Given the description of an element on the screen output the (x, y) to click on. 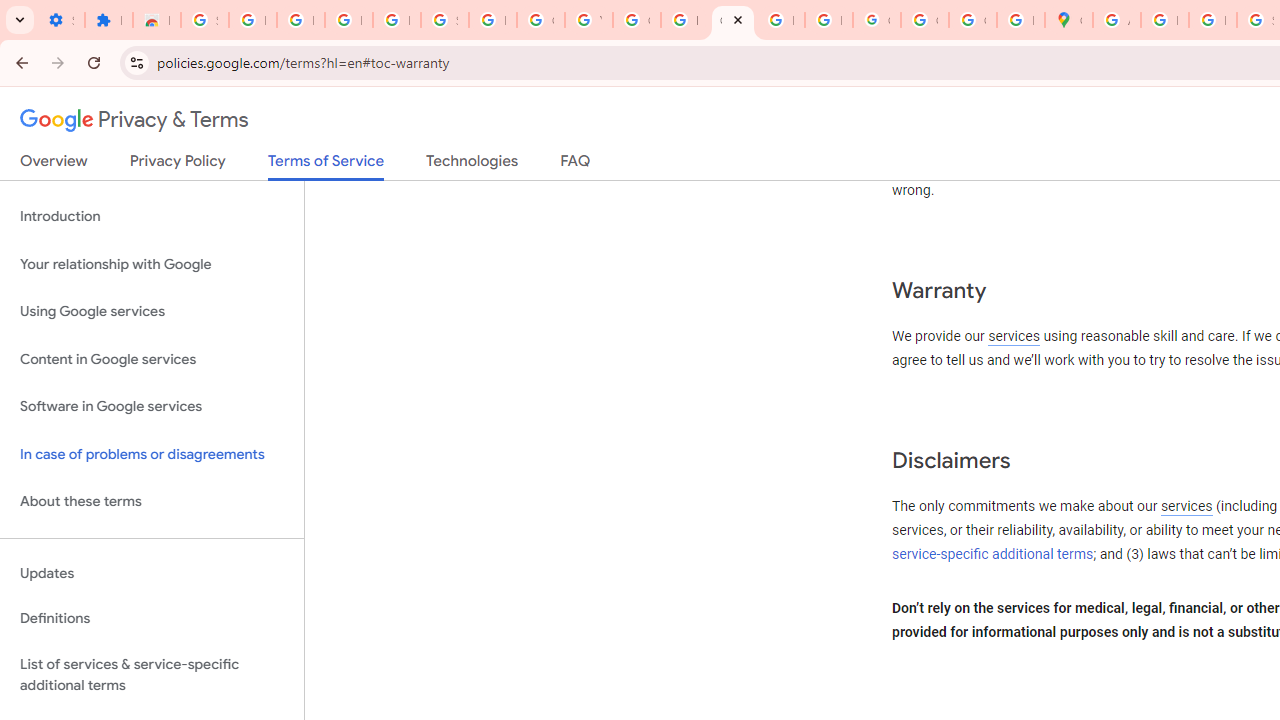
service-specific additional terms (993, 554)
YouTube (588, 20)
Privacy & Terms (134, 120)
Technologies (472, 165)
Updates (152, 573)
About these terms (152, 502)
Reviews: Helix Fruit Jump Arcade Game (156, 20)
Your relationship with Google (152, 263)
